Given the description of an element on the screen output the (x, y) to click on. 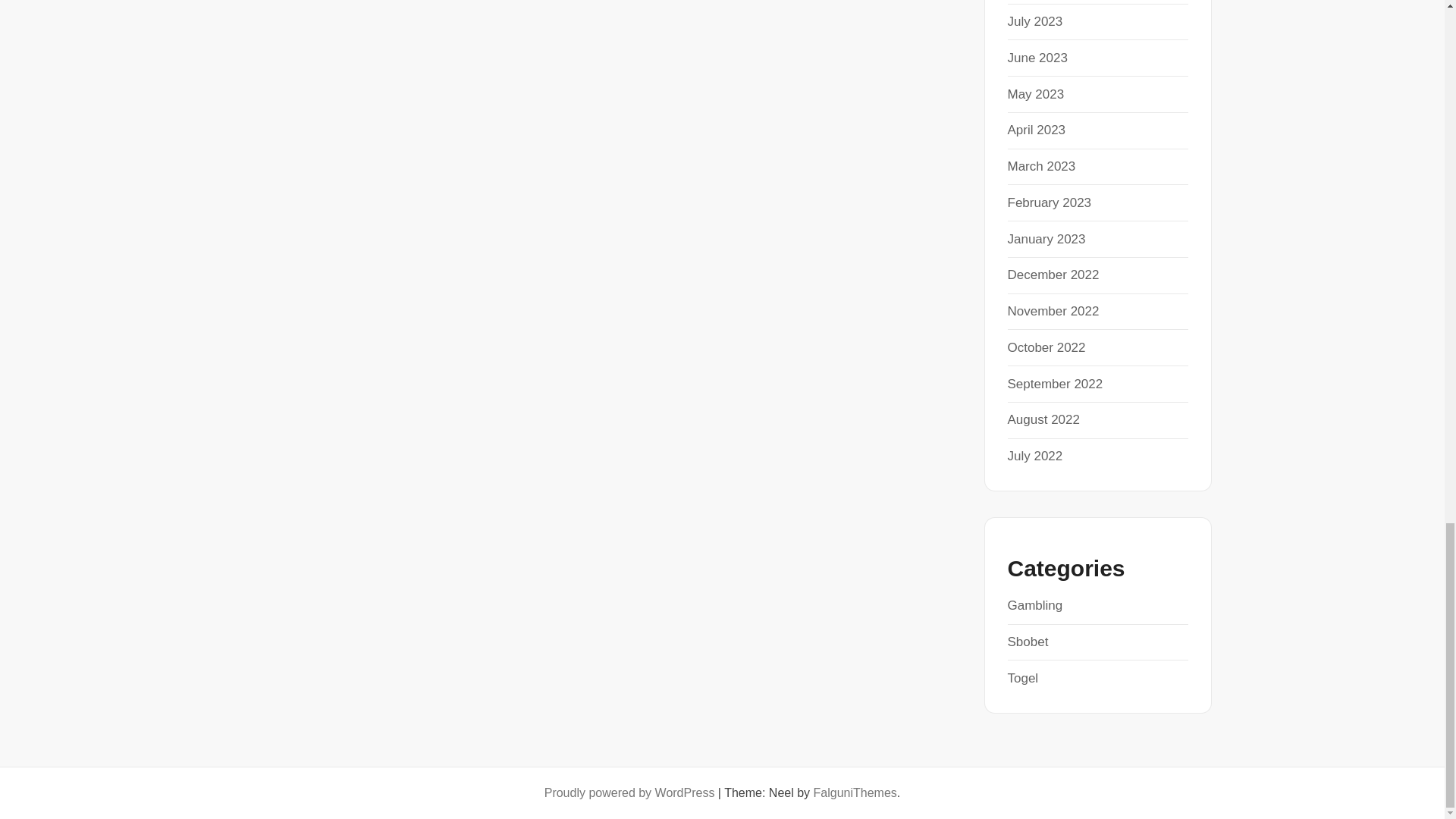
December 2022 (1053, 274)
January 2023 (1045, 238)
April 2023 (1036, 129)
May 2023 (1035, 93)
June 2023 (1037, 57)
March 2023 (1041, 165)
July 2023 (1034, 21)
February 2023 (1048, 202)
